Given the description of an element on the screen output the (x, y) to click on. 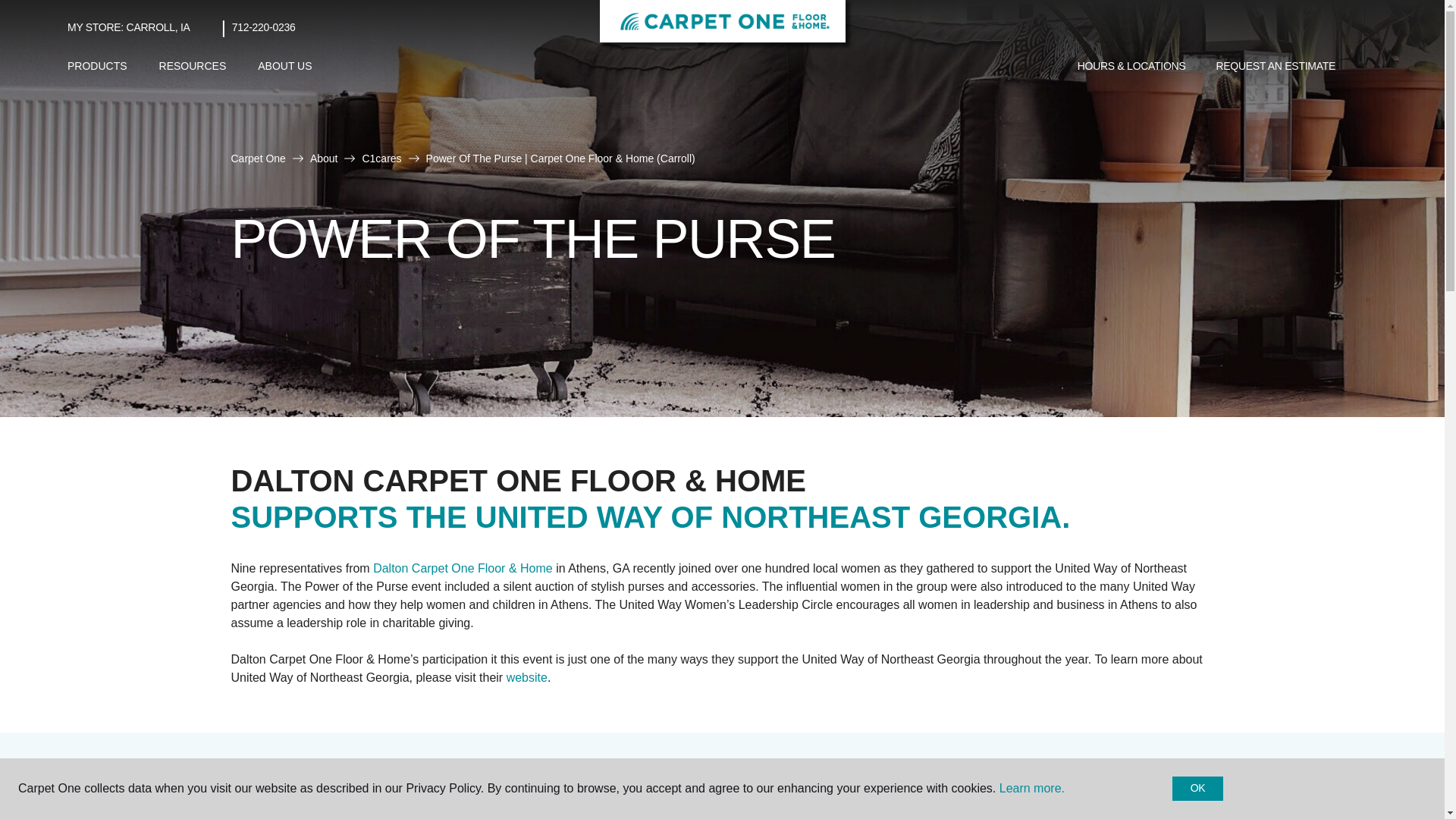
RESOURCES (193, 66)
ABOUT US (284, 66)
MY STORE: CARROLL, IA (128, 27)
PRODUCTS (97, 66)
712-220-0236 (263, 27)
